Given the description of an element on the screen output the (x, y) to click on. 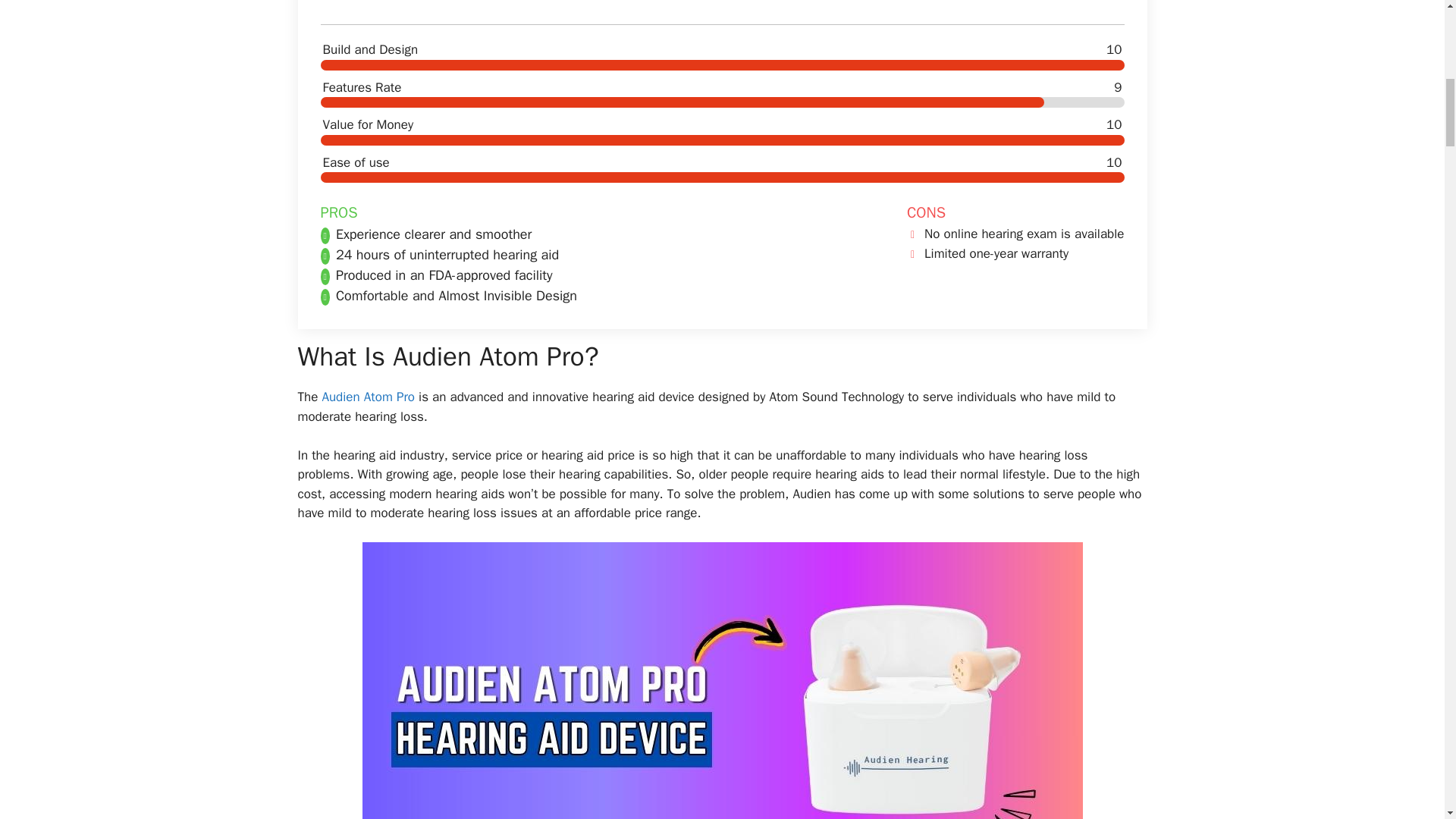
Scroll back to top (1406, 720)
Audien Atom Pro (367, 396)
